Given the description of an element on the screen output the (x, y) to click on. 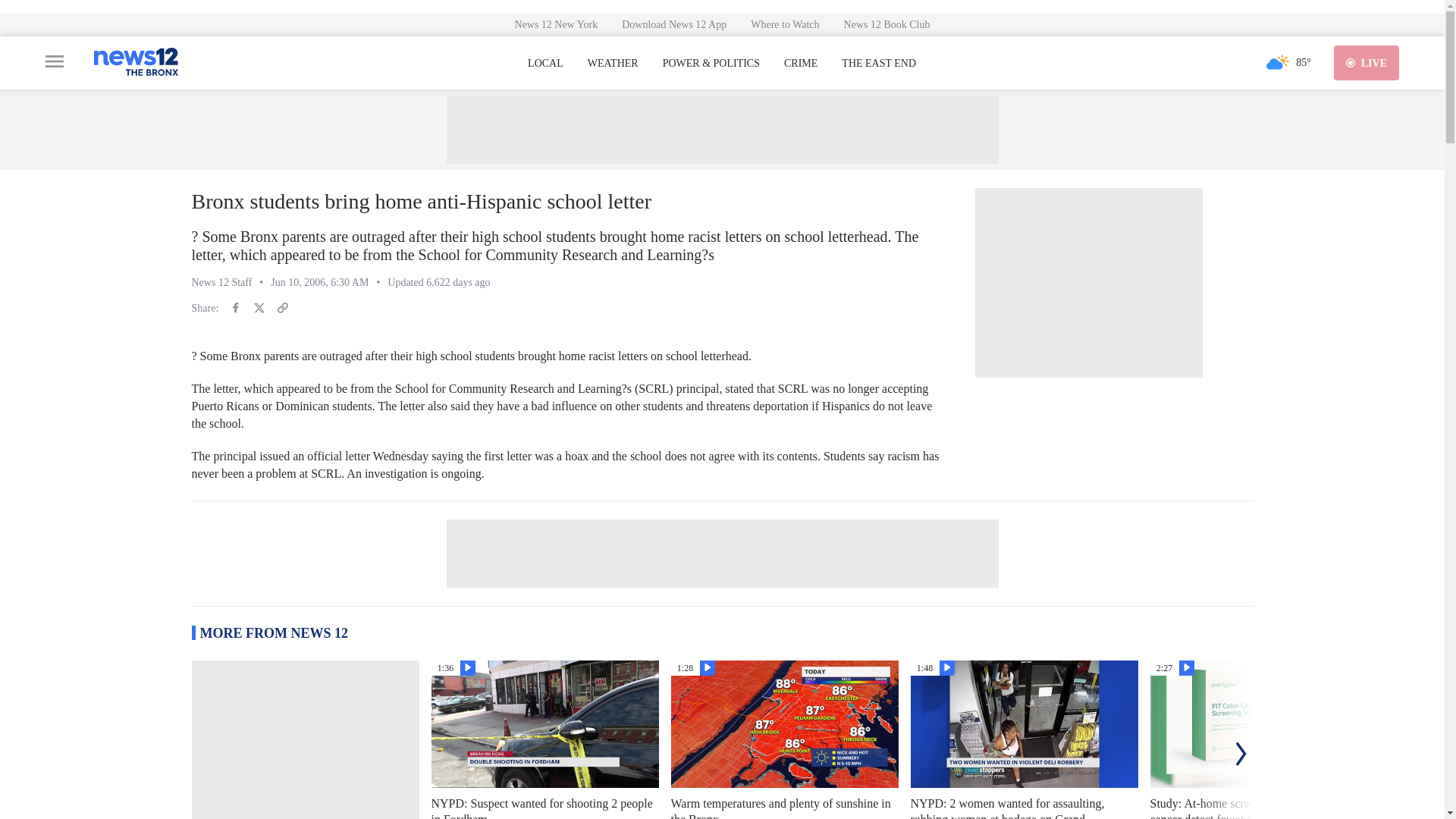
Where to Watch (784, 24)
News 12 Book Club (886, 24)
WEATHER (613, 63)
Download News 12 App (673, 24)
CRIME (800, 63)
THE EAST END (878, 63)
LOCAL (545, 63)
LIVE (1366, 62)
Partly Cloudy (1277, 62)
News 12 New York (556, 24)
